Given the description of an element on the screen output the (x, y) to click on. 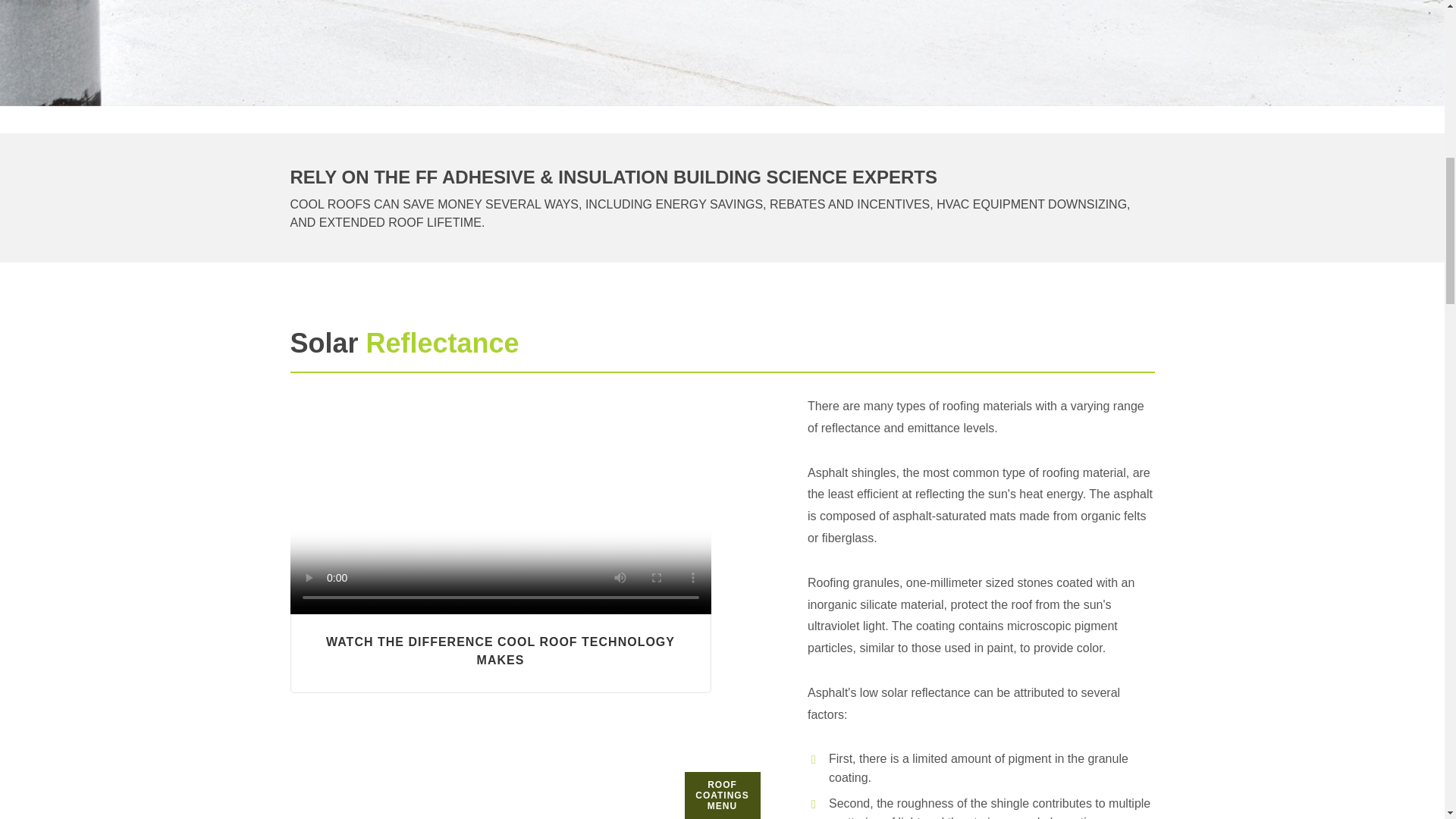
SILICONE ROOF COATINGS (722, 152)
SOLAR REFLECTANCE (722, 117)
COOL ROOF COATINGS (722, 81)
  GET A QUOTE   (722, 223)
